Given the description of an element on the screen output the (x, y) to click on. 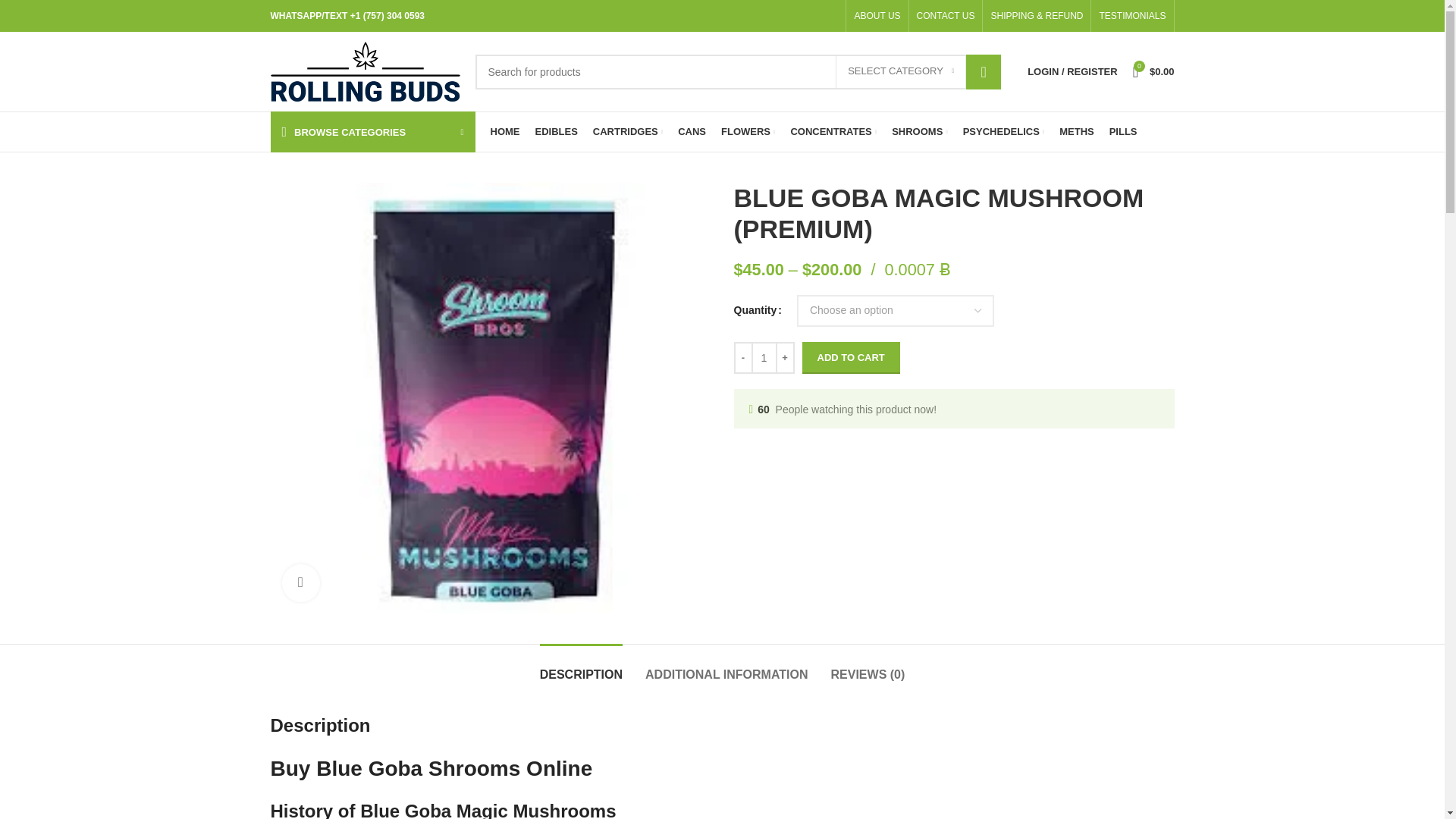
SELECT CATEGORY (900, 71)
My account (1072, 71)
SELECT CATEGORY (900, 71)
ABOUT US (876, 15)
TESTIMONIALS (1132, 15)
CONTACT US (946, 15)
Search for products (737, 71)
Shopping cart (1153, 71)
